Given the description of an element on the screen output the (x, y) to click on. 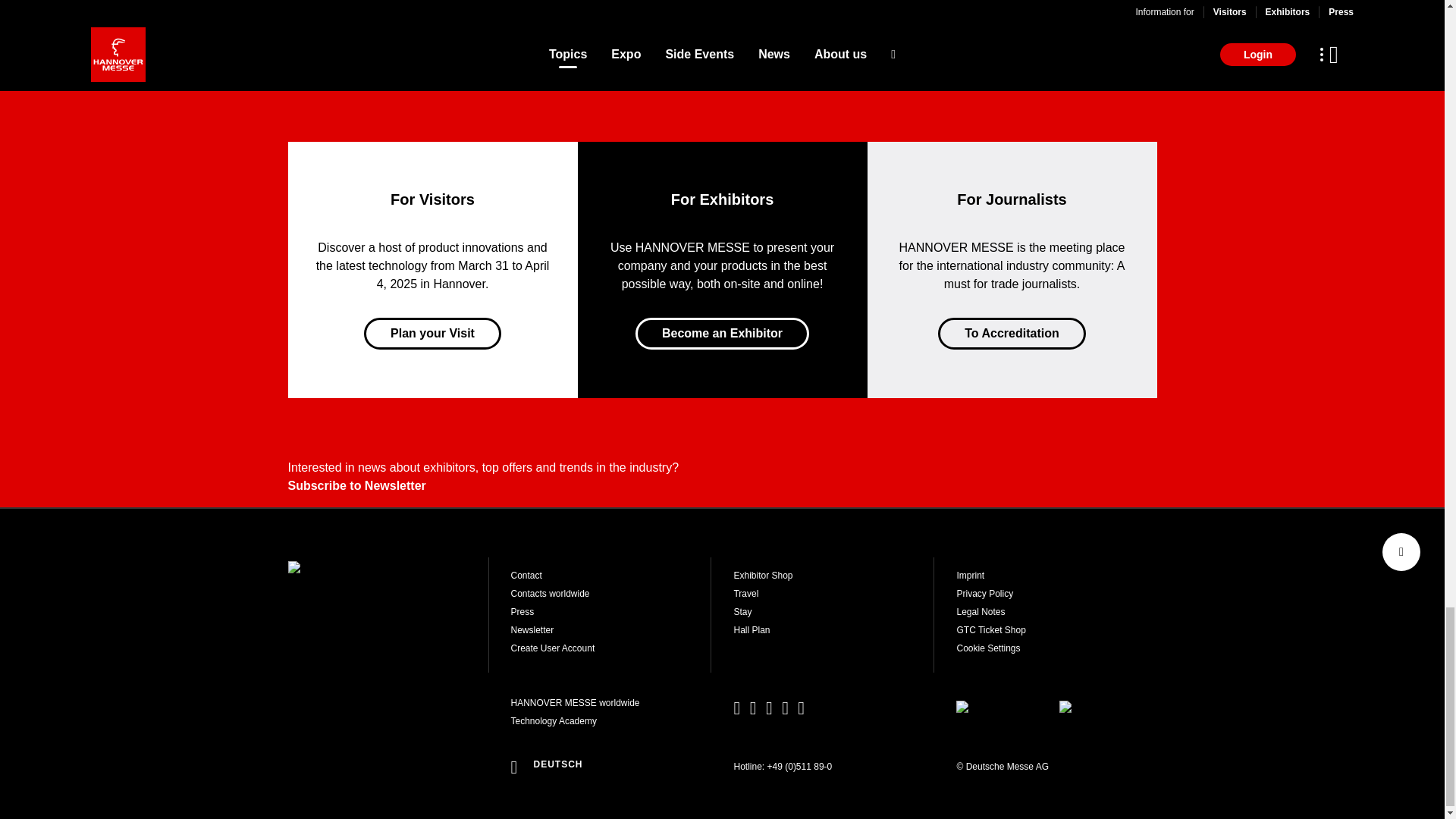
Plan your Visit (432, 333)
To Accreditation (1010, 333)
Show all (721, 4)
Become an Exhibitor (721, 333)
